Given the description of an element on the screen output the (x, y) to click on. 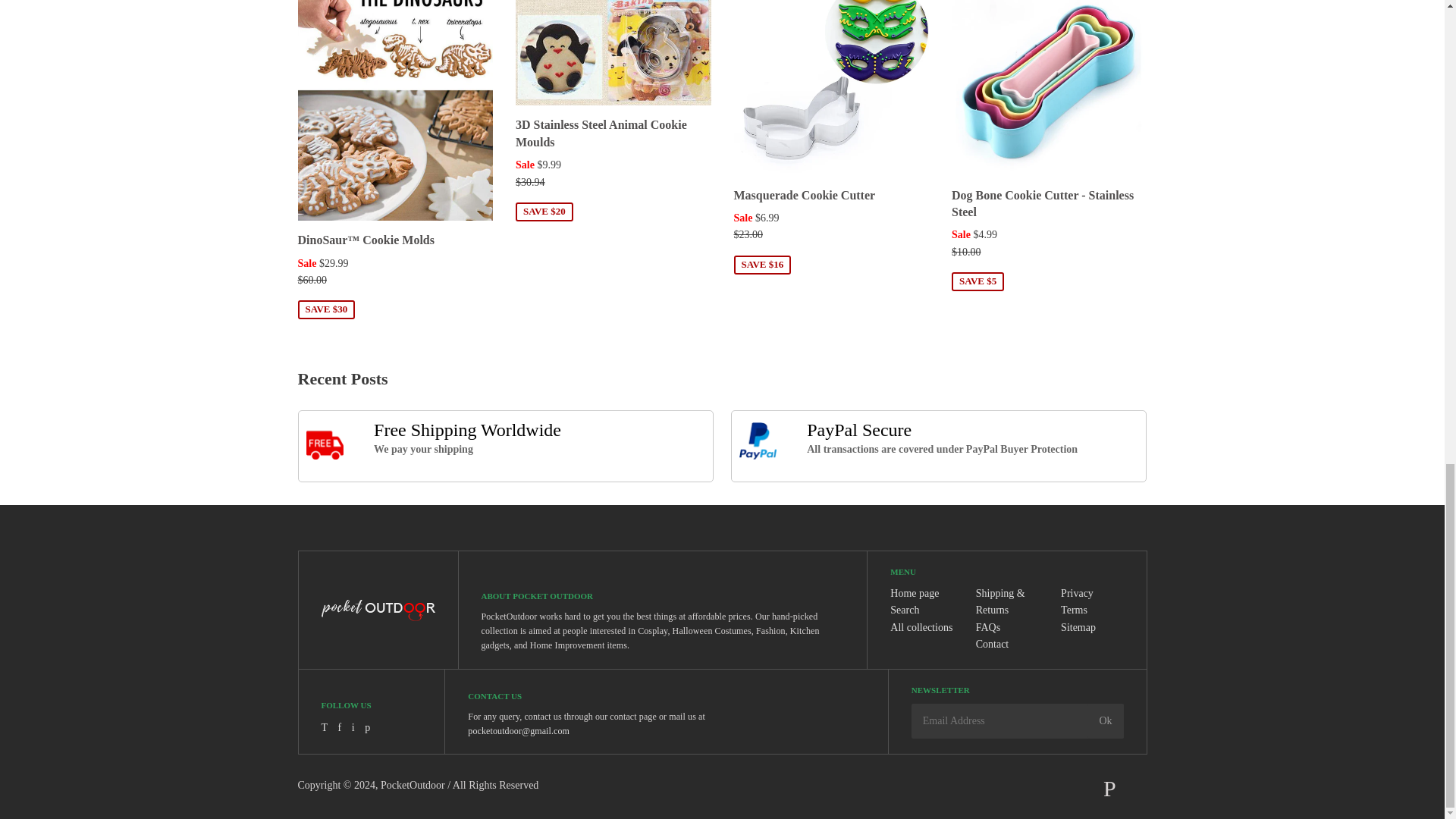
Ok (1104, 720)
